Given the description of an element on the screen output the (x, y) to click on. 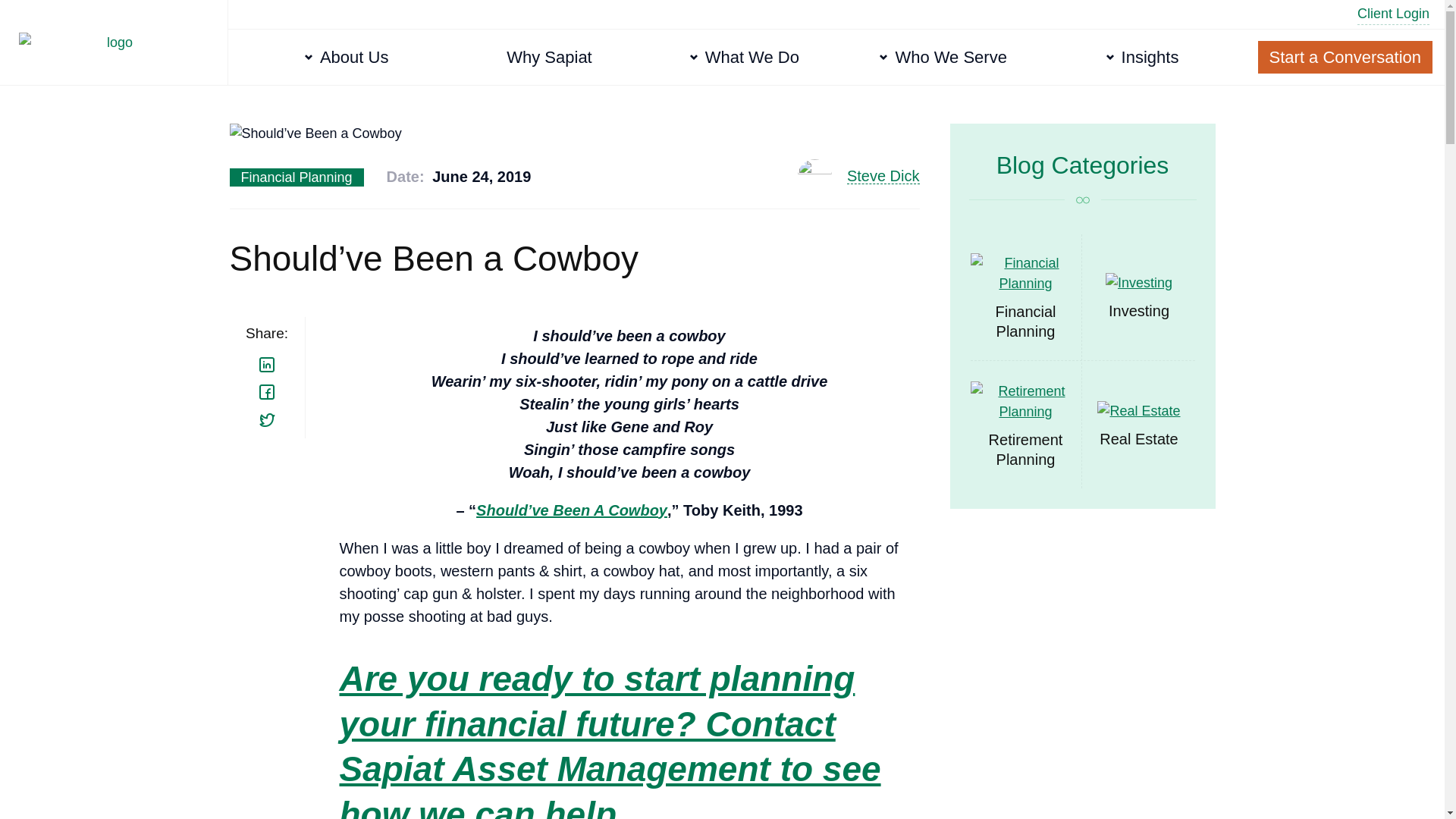
Start a Conversation (1344, 56)
Who We Serve (946, 57)
Why Sapiat (549, 48)
Insights (1146, 57)
About Us (350, 32)
What We Do (748, 53)
